Given the description of an element on the screen output the (x, y) to click on. 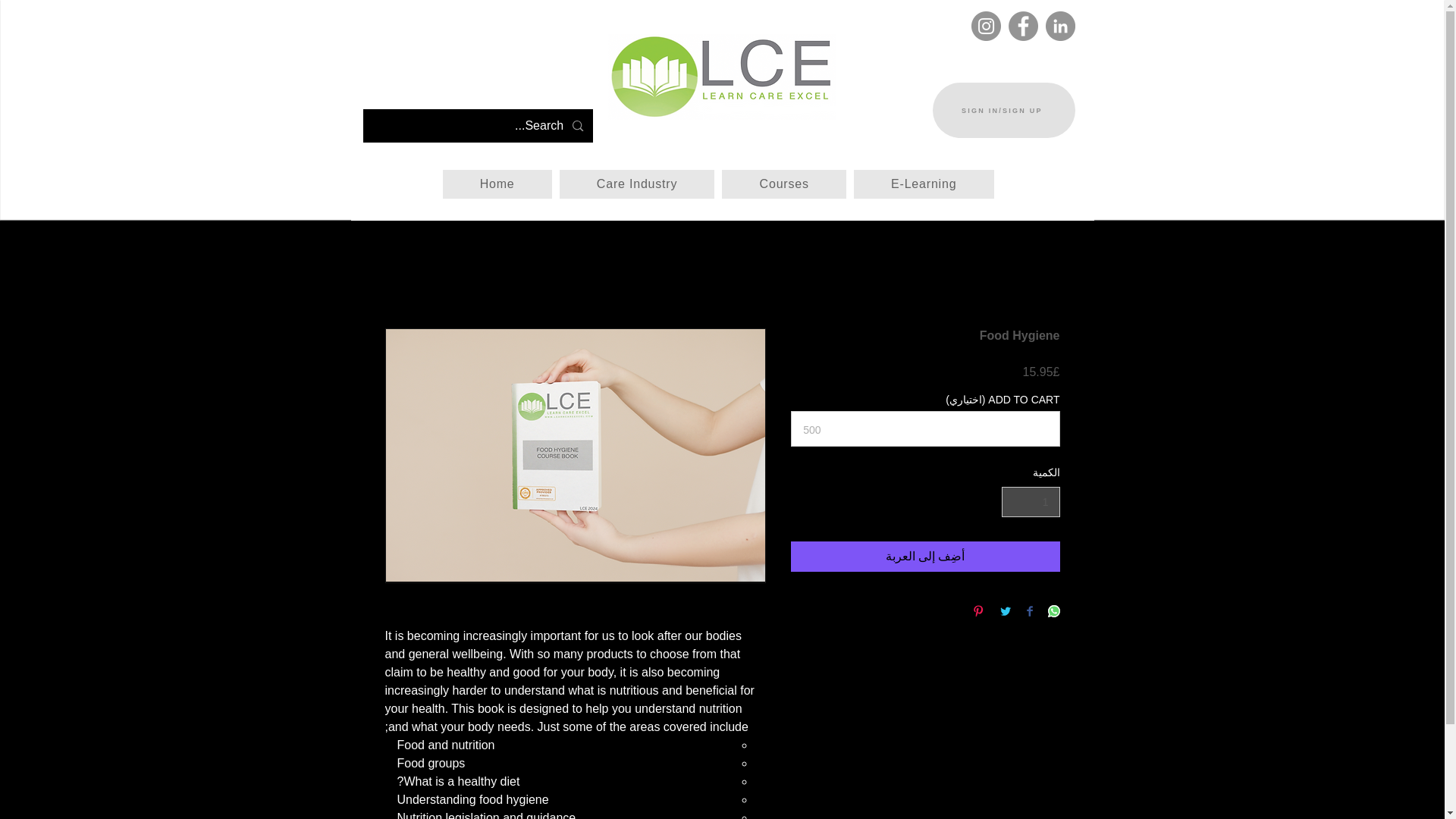
Home (496, 183)
1 (1030, 501)
Care Industry (637, 183)
E-Learning (923, 183)
Screenshot 2023-11-22 at 09.40.40.png (721, 76)
Courses (782, 183)
